Given the description of an element on the screen output the (x, y) to click on. 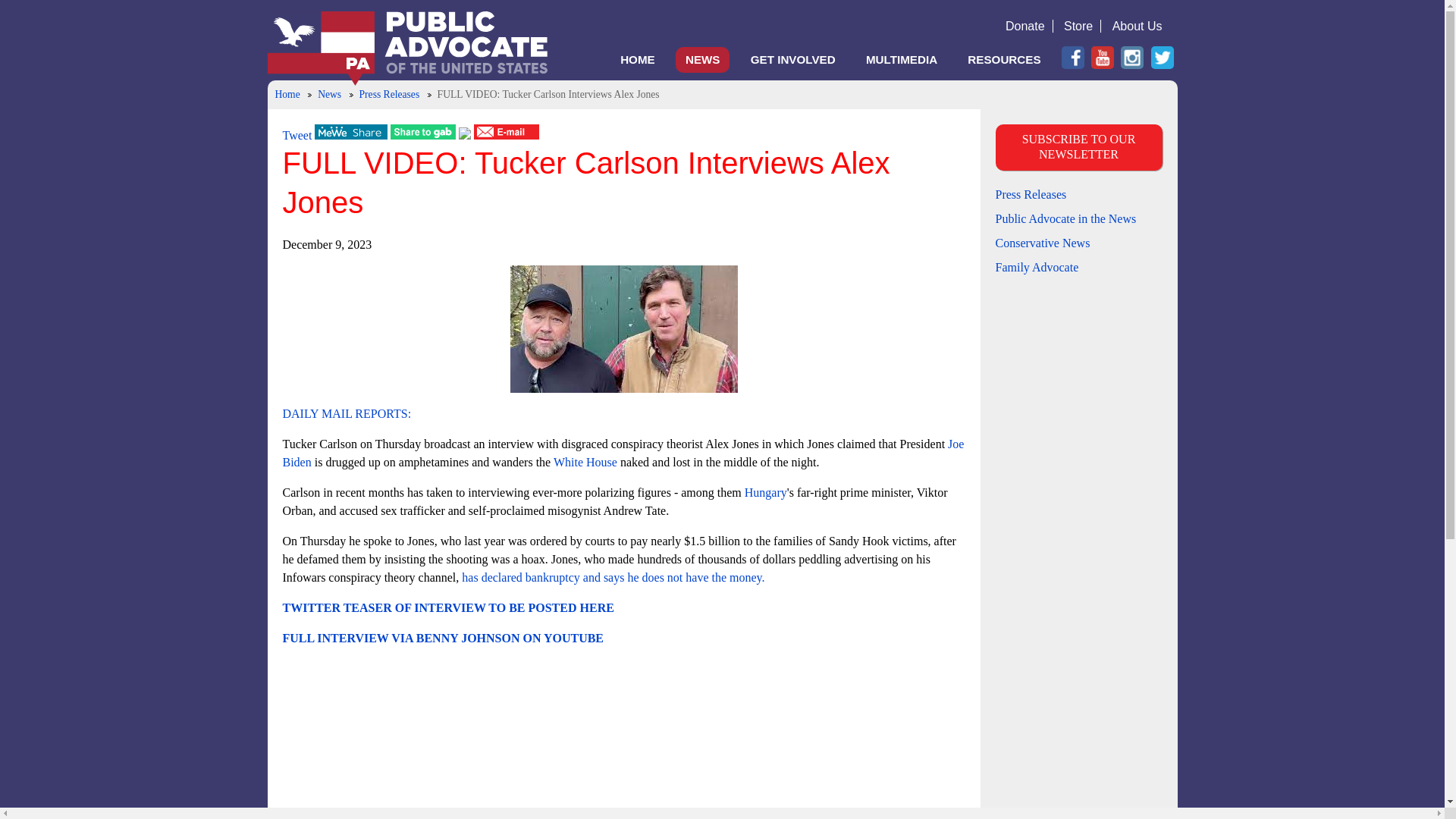
Hungary (765, 492)
has declared bankruptcy and says he does not have the money. (612, 576)
NEWS (702, 59)
TWITTER (1162, 56)
News (328, 93)
SUBSCRIBE TO OUR NEWSLETTER (1077, 147)
White House (585, 461)
Joe Biden (622, 452)
DAILY MAIL REPORTS: (346, 413)
Press Releases (1029, 194)
Public Advocate in the News (1064, 218)
GET INVOLVED (793, 59)
Conservative News (1041, 242)
RESOURCES (1003, 59)
FACEBOOK (1072, 56)
